Given the description of an element on the screen output the (x, y) to click on. 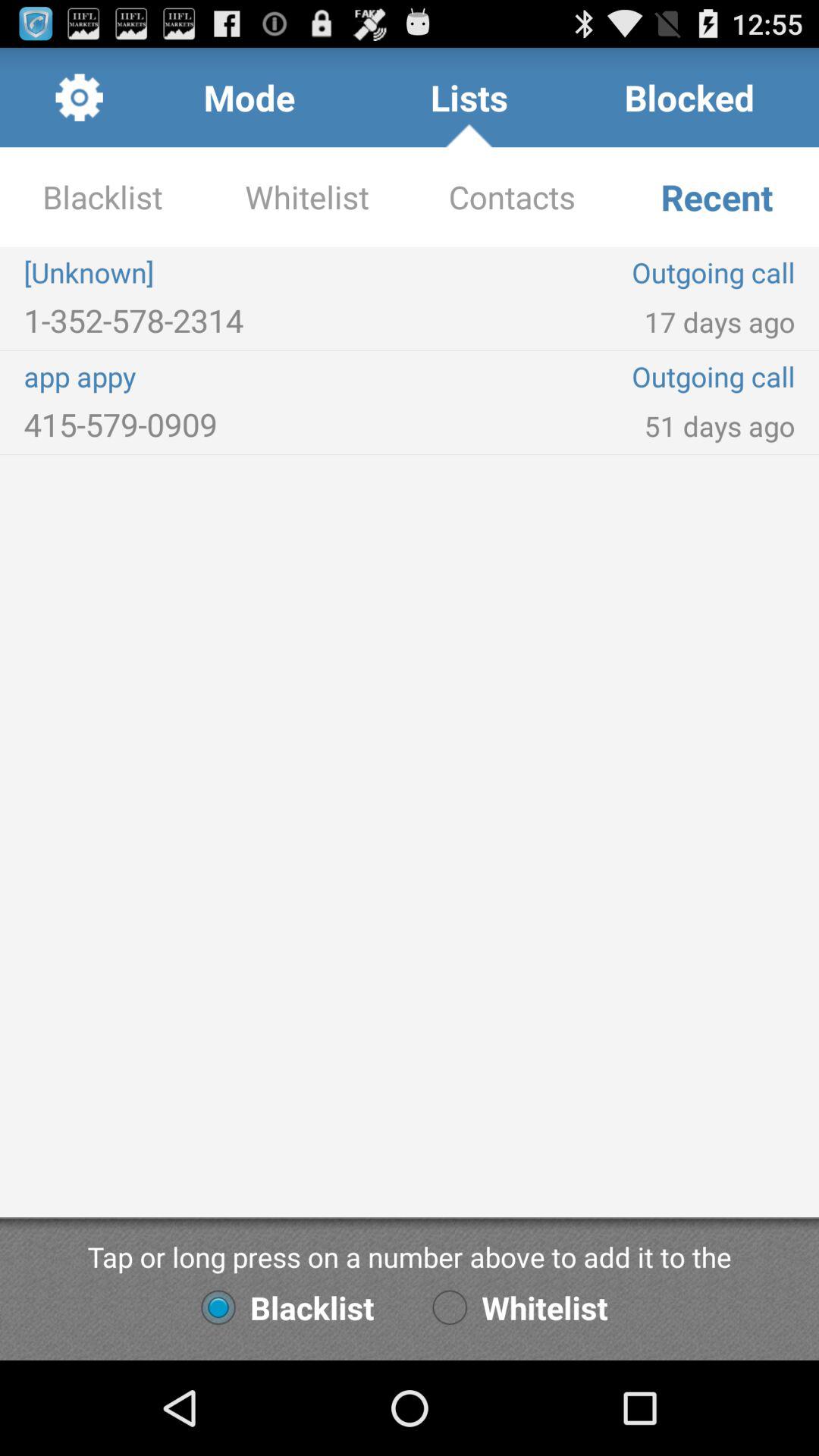
scroll to the contacts item (511, 196)
